Given the description of an element on the screen output the (x, y) to click on. 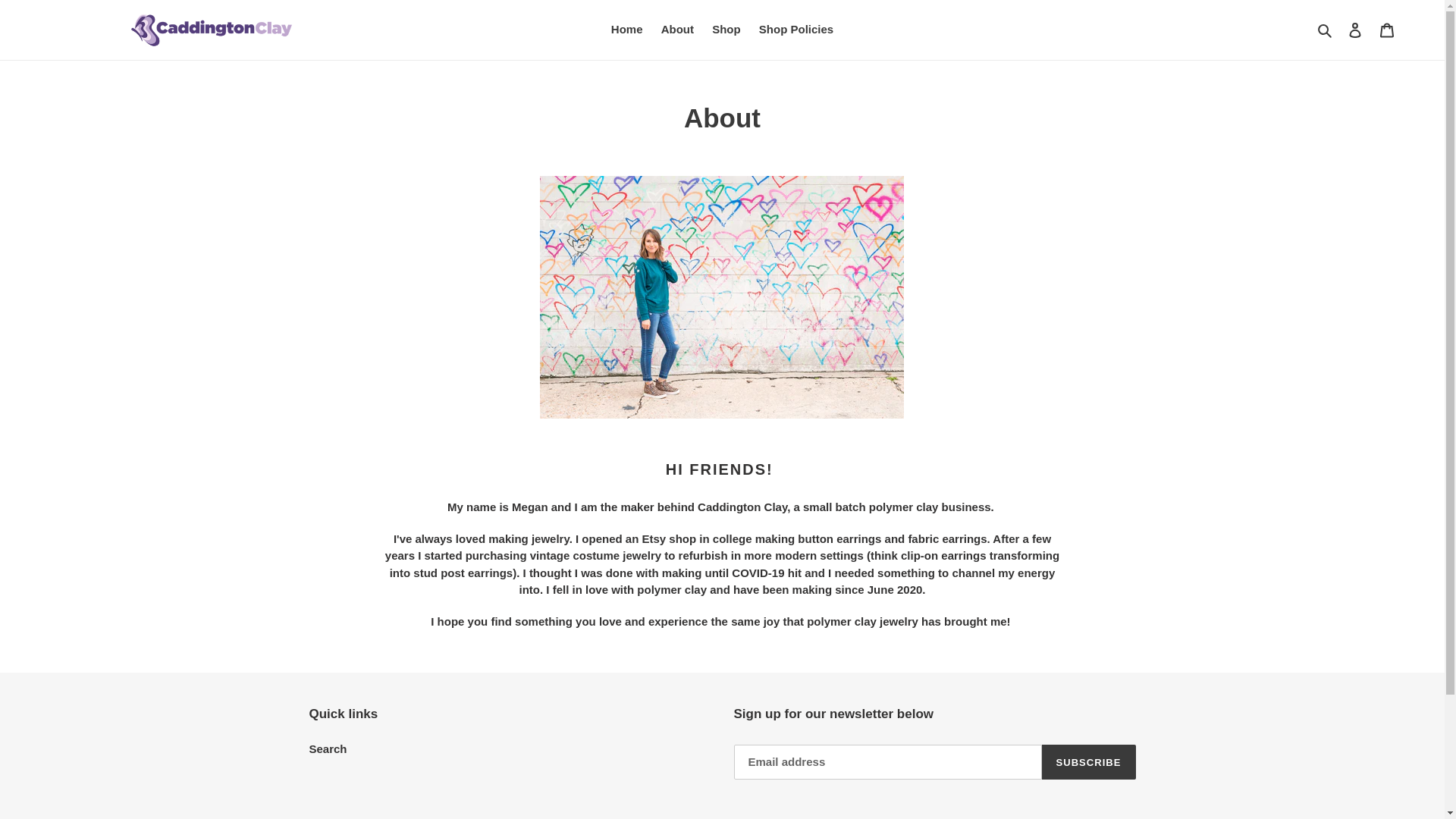
About (677, 29)
Shop Policies (796, 29)
Log in (1355, 29)
Shop (726, 29)
SUBSCRIBE (1088, 761)
Search (1326, 29)
Search (327, 748)
Home (627, 29)
Cart (1387, 29)
